Given the description of an element on the screen output the (x, y) to click on. 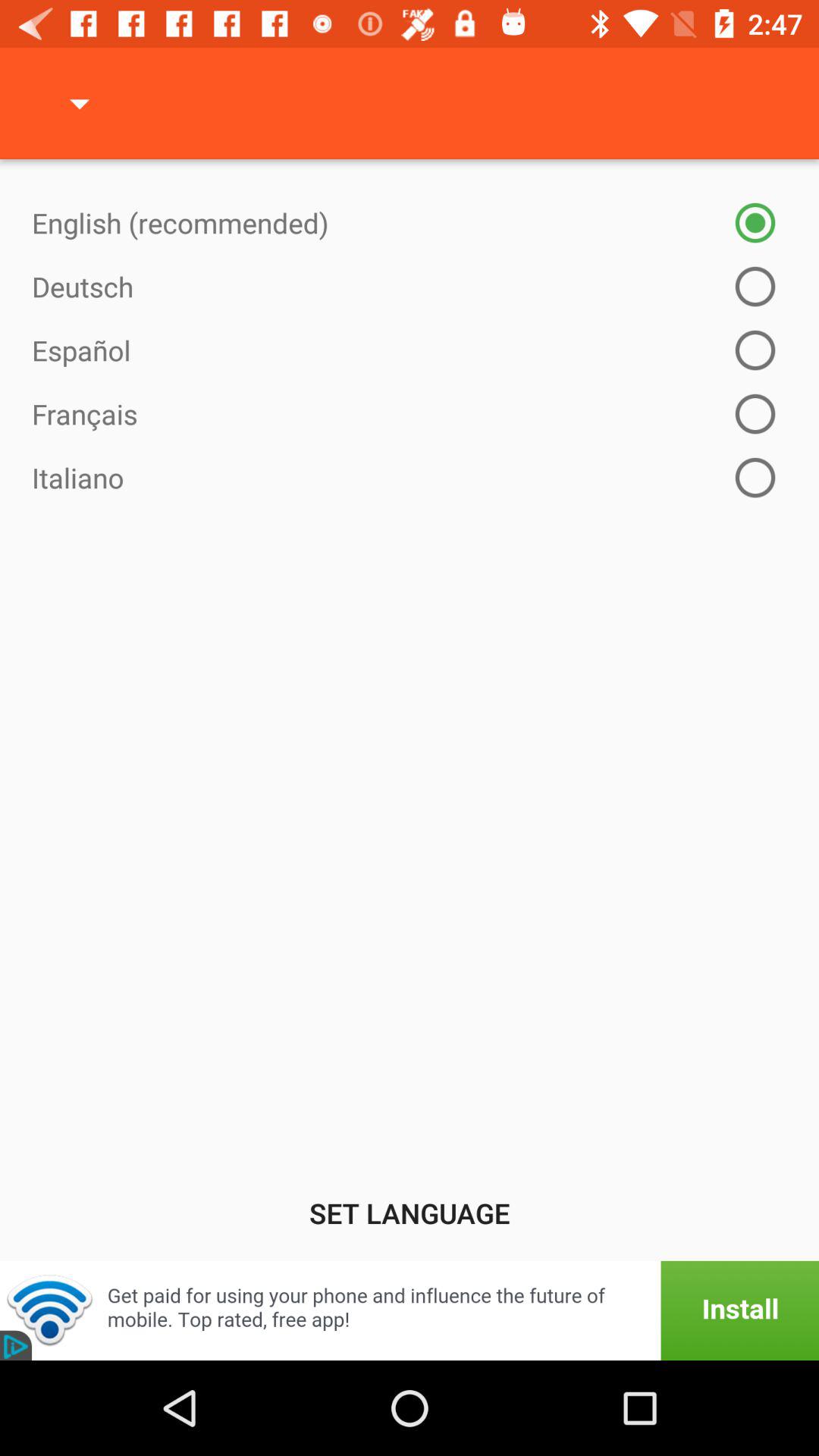
install app (409, 1310)
